Given the description of an element on the screen output the (x, y) to click on. 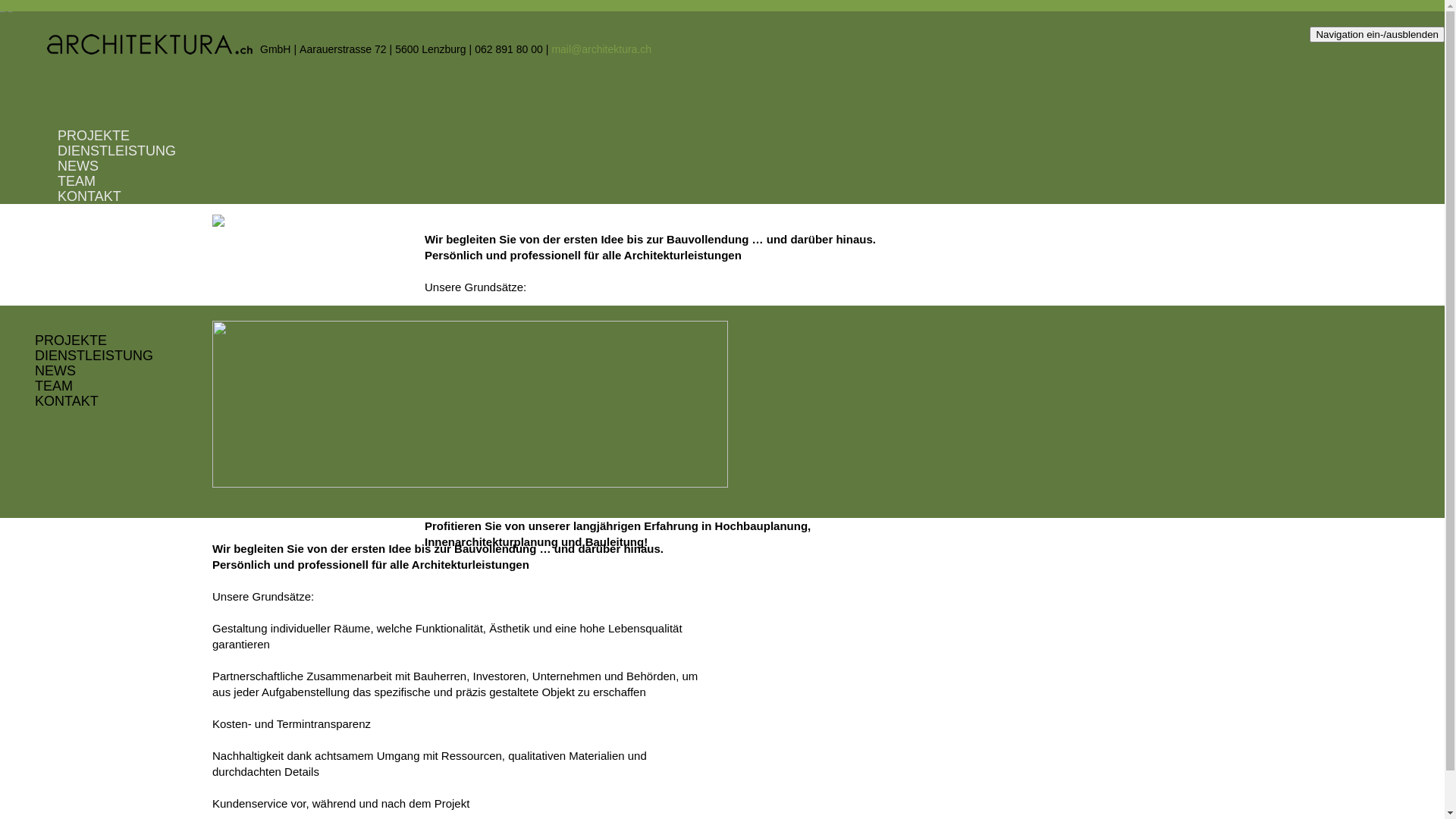
Navigation ein-/ausblenden Element type: text (1376, 34)
NEWS Element type: text (77, 165)
KONTAKT Element type: text (66, 400)
TEAM Element type: text (76, 181)
DIENSTLEISTUNG Element type: text (93, 355)
PROJEKTE Element type: text (93, 135)
mail@architektura.ch Element type: text (601, 49)
NEWS Element type: text (54, 370)
KONTAKT Element type: text (89, 196)
DIENSTLEISTUNG Element type: text (116, 150)
PROJEKTE Element type: text (70, 340)
TEAM Element type: text (53, 385)
